Given the description of an element on the screen output the (x, y) to click on. 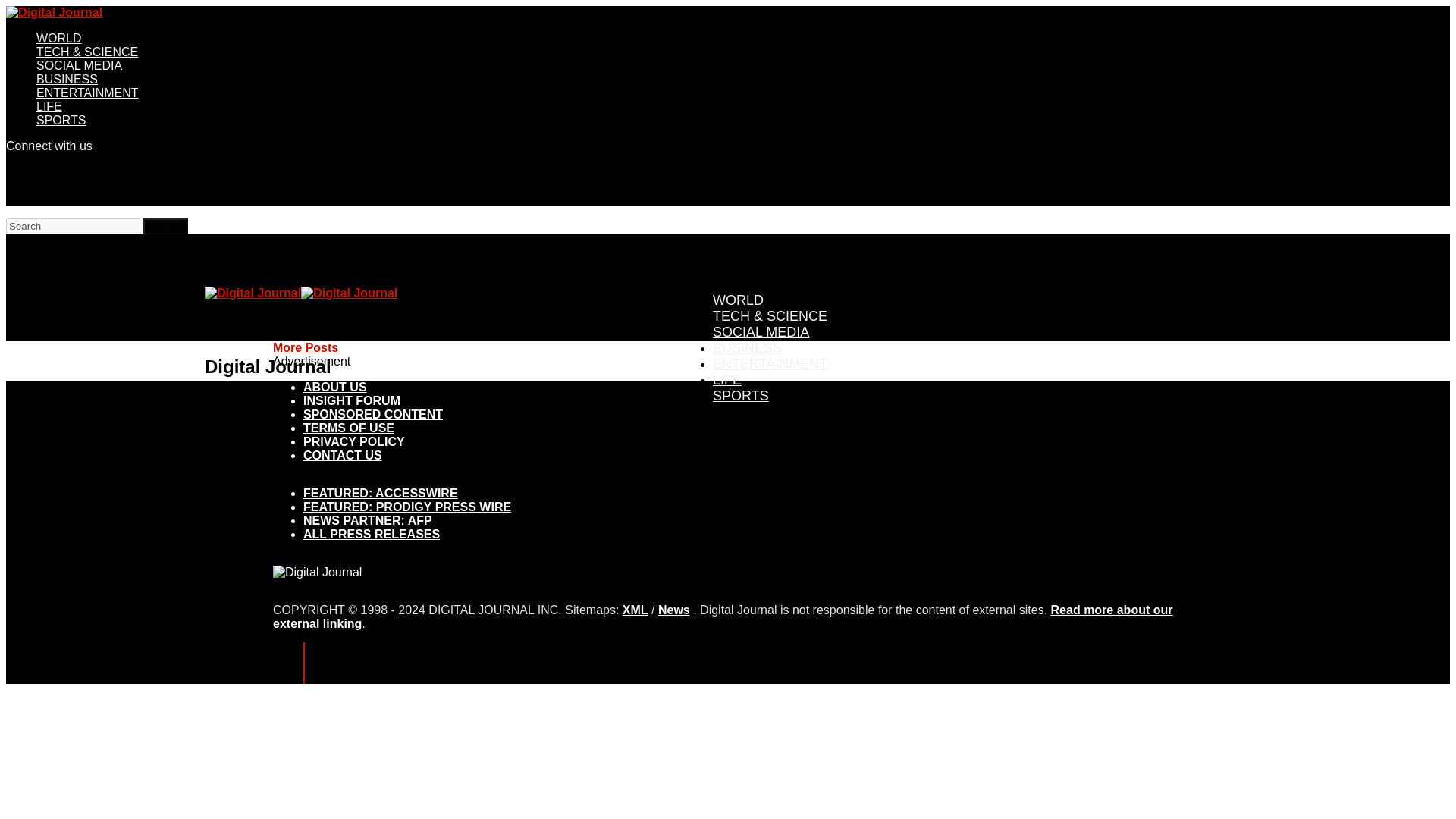
SOCIAL MEDIA (761, 332)
CONTACT US (341, 454)
ENTERTAINMENT (87, 92)
ALL PRESS RELEASES (370, 533)
News (674, 609)
ENTERTAINMENT (770, 363)
ABOUT US (334, 386)
More Posts (305, 347)
BUSINESS (747, 347)
FEATURED: PRODIGY PRESS WIRE (406, 506)
